Given the description of an element on the screen output the (x, y) to click on. 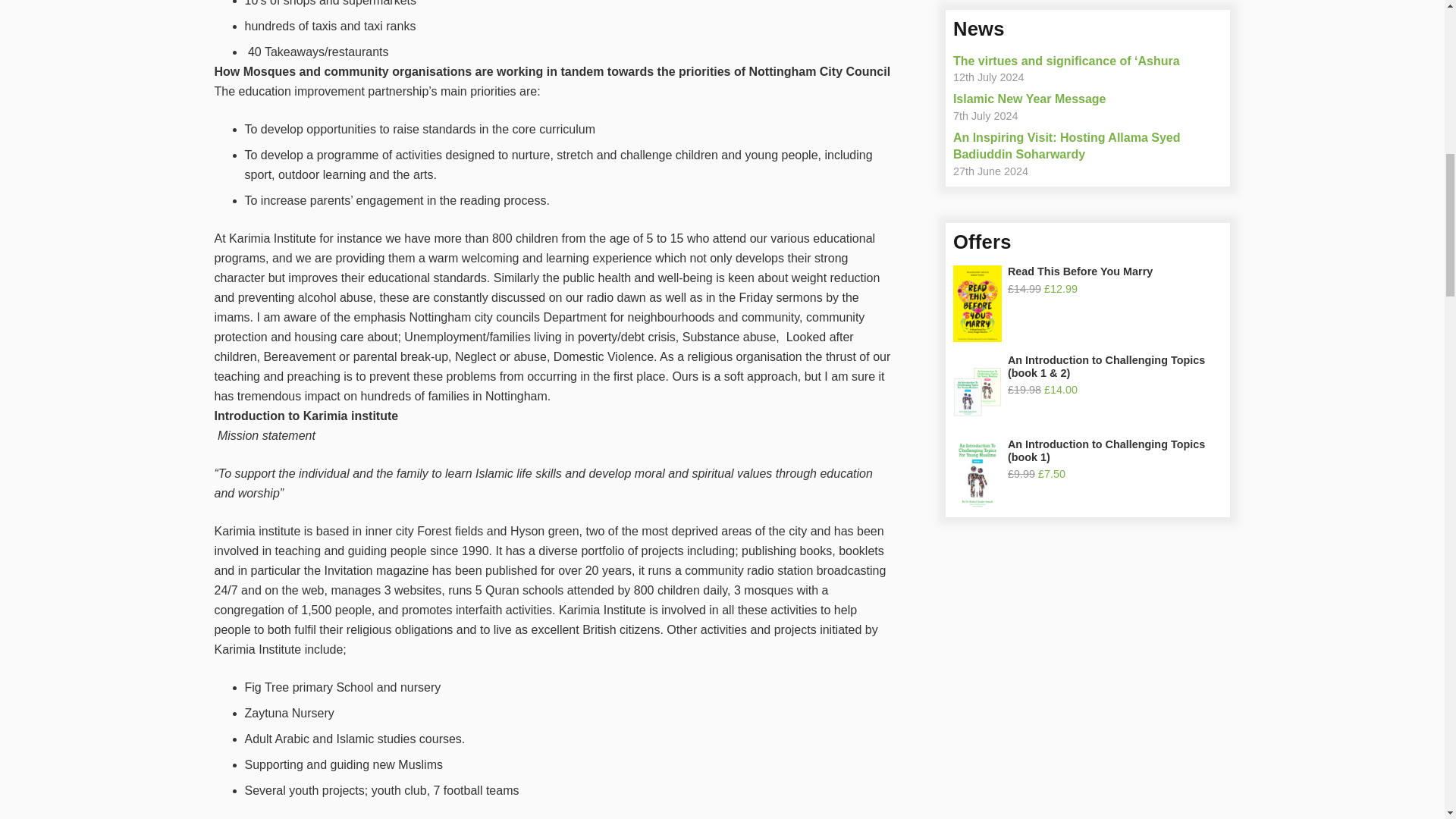
Back to top (1413, 26)
